Given the description of an element on the screen output the (x, y) to click on. 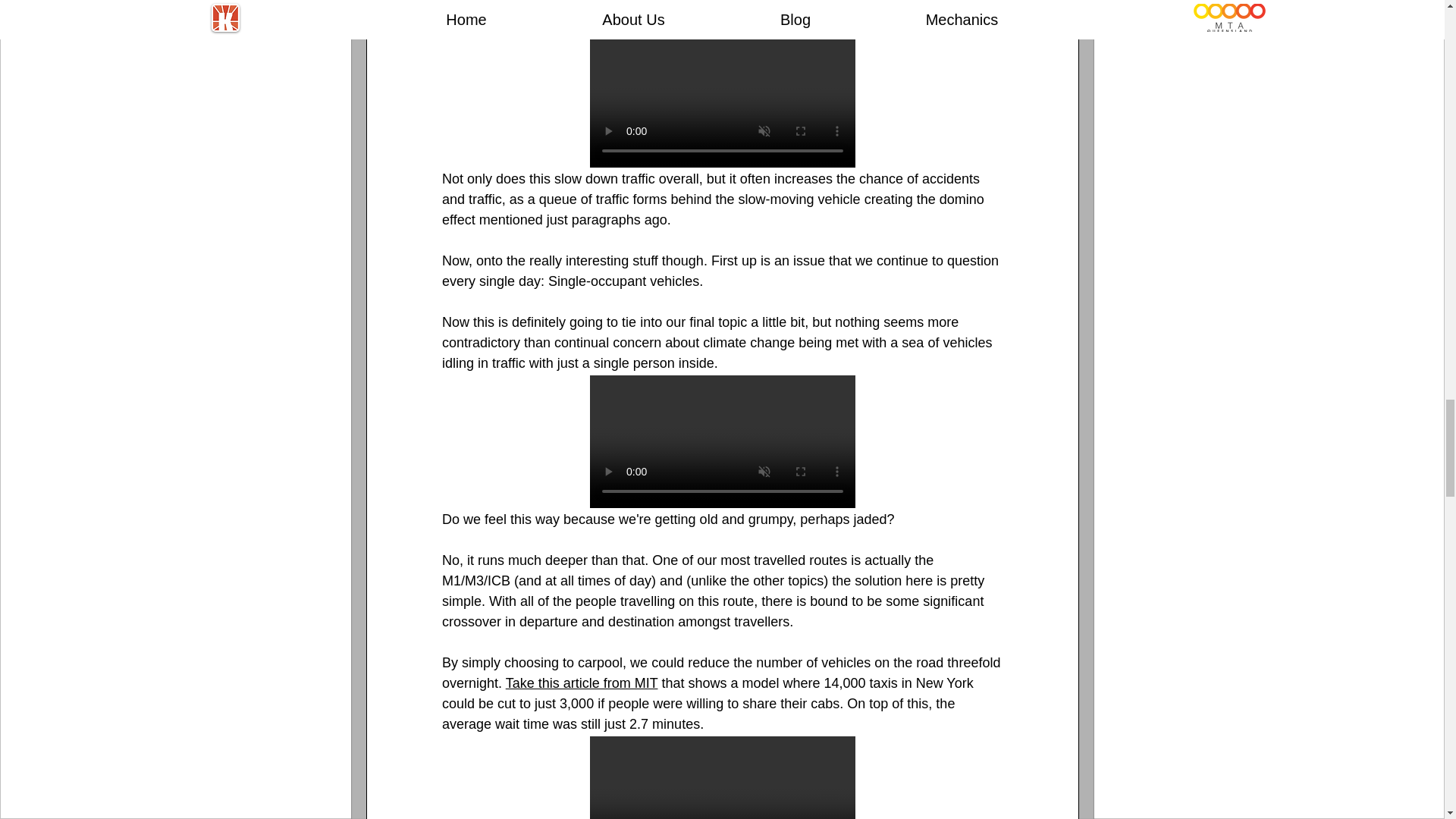
Take this article from MIT (581, 683)
